Given the description of an element on the screen output the (x, y) to click on. 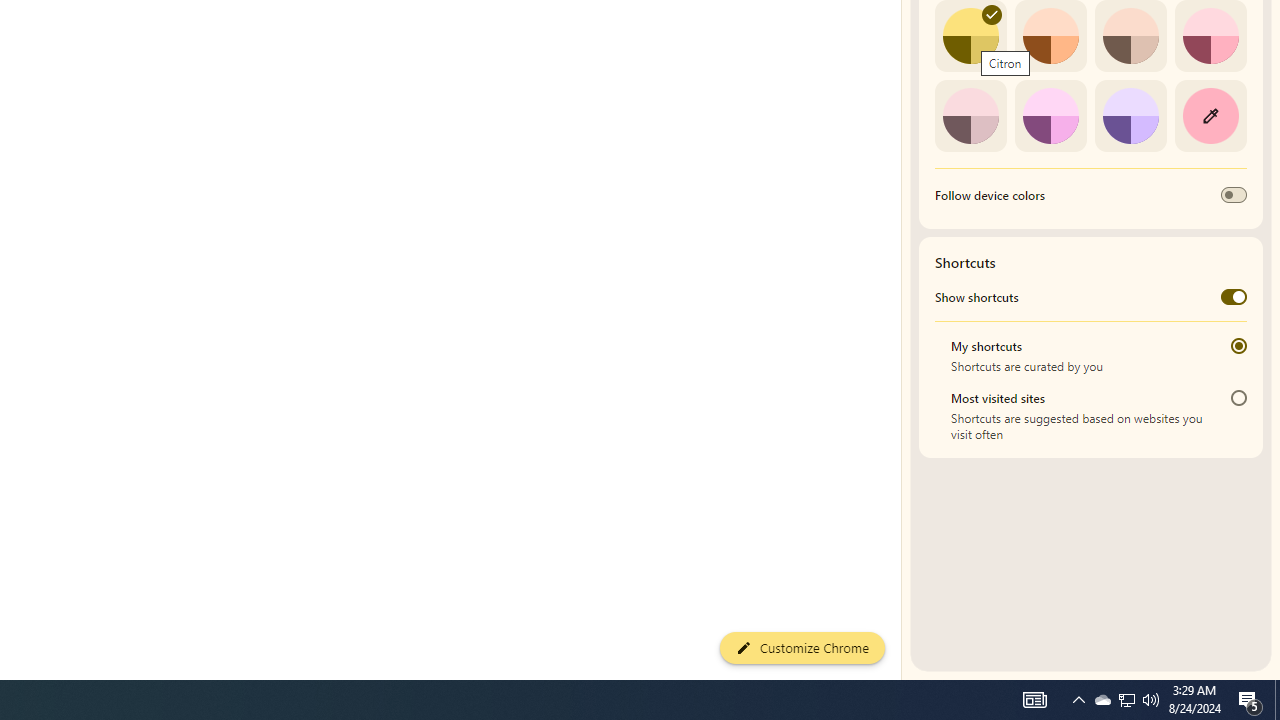
Violet (1130, 115)
